Given the description of an element on the screen output the (x, y) to click on. 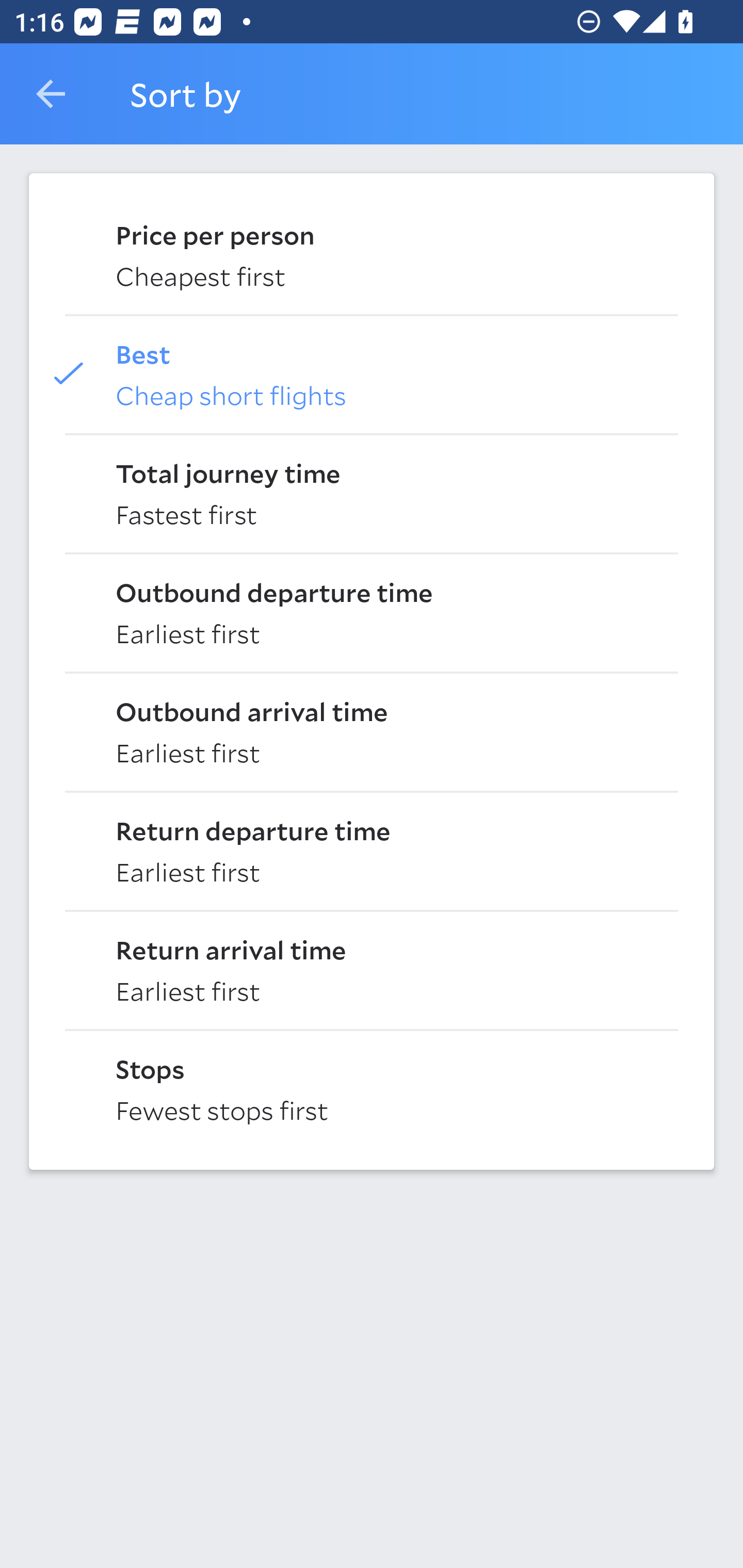
Navigate up (50, 93)
Price per person Cheapest first (371, 253)
Best Cheap short flights (371, 372)
Total journey time Fastest first (371, 491)
Outbound departure time Earliest first (371, 611)
Outbound arrival time Earliest first (371, 730)
Return departure time Earliest first (371, 849)
Return arrival time Earliest first (371, 968)
Stops Fewest stops first (371, 1087)
